Given the description of an element on the screen output the (x, y) to click on. 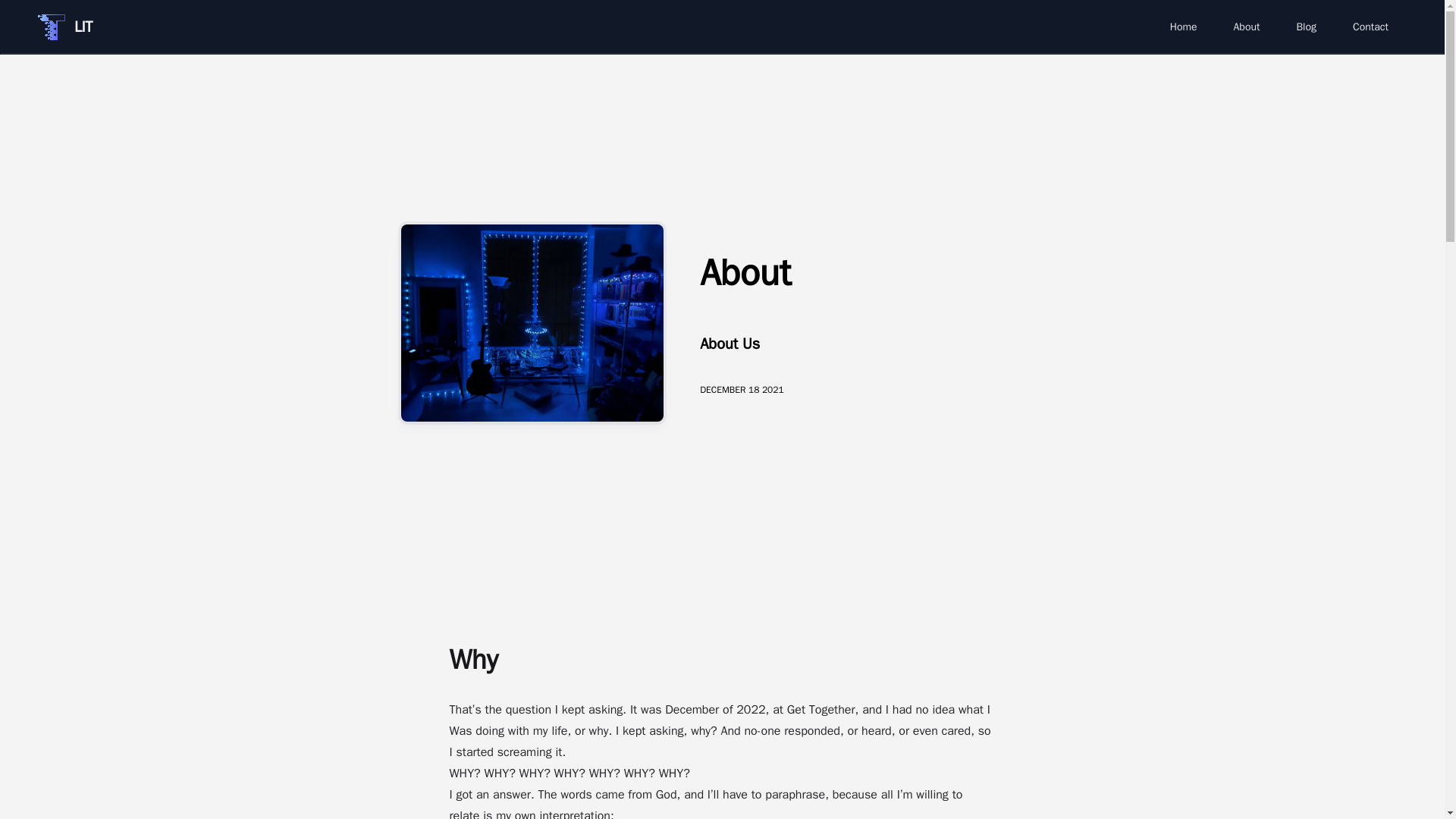
Contact (1370, 26)
About (1246, 26)
Home (1183, 26)
Home (1183, 26)
Contact (1370, 26)
About (1246, 26)
LIT (65, 26)
Blog (1305, 26)
Blog (1305, 26)
